Given the description of an element on the screen output the (x, y) to click on. 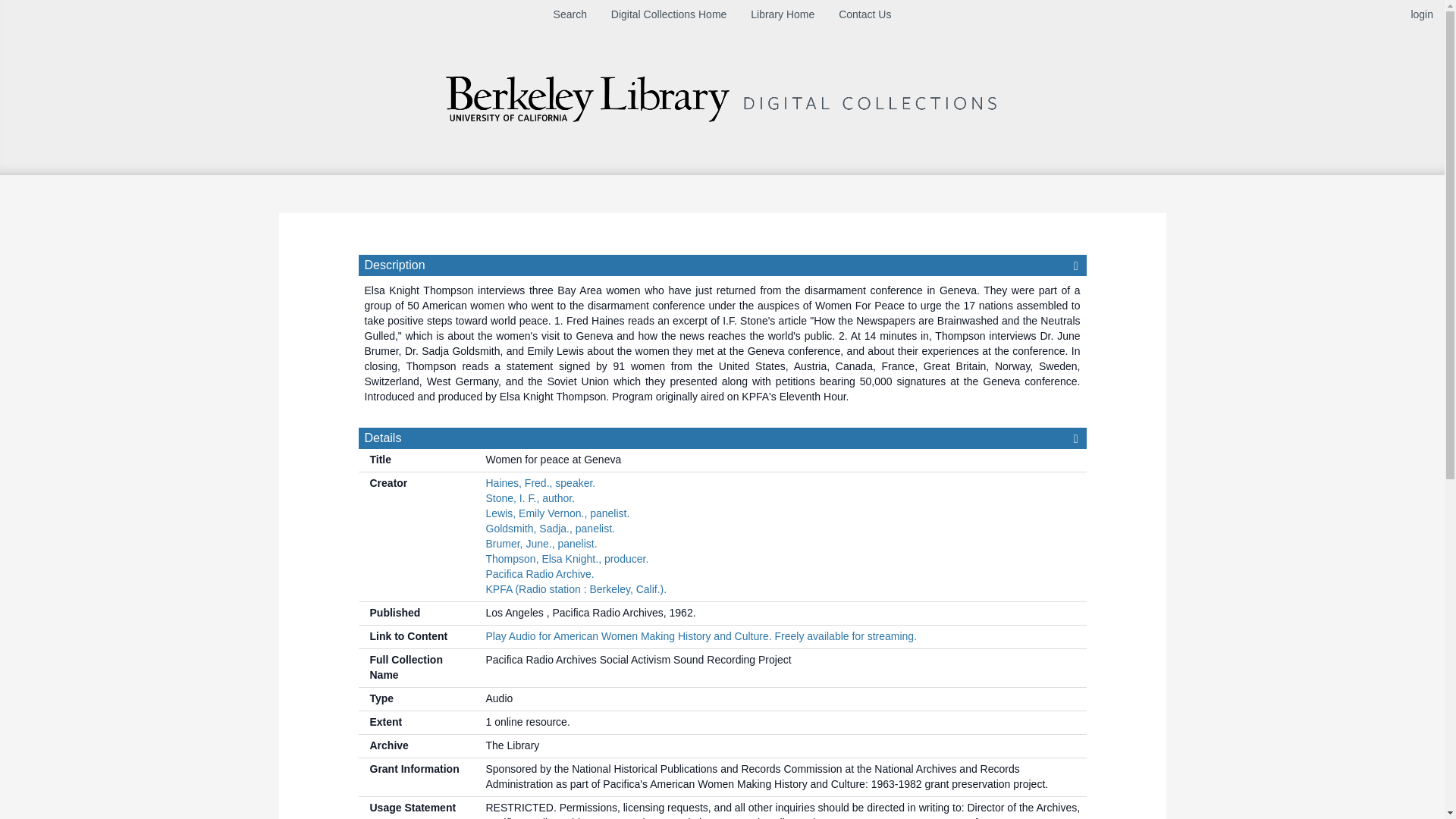
Stone, I. F., author. (529, 498)
Digital Collections Home (668, 14)
Brumer, June., panelist. (540, 543)
Lewis, Emily Vernon., panelist. (556, 512)
Contact Us (864, 14)
Pacifica Radio Archive. (539, 573)
Library Home (782, 14)
Goldsmith, Sadja., panelist. (549, 528)
login (1421, 14)
